Given the description of an element on the screen output the (x, y) to click on. 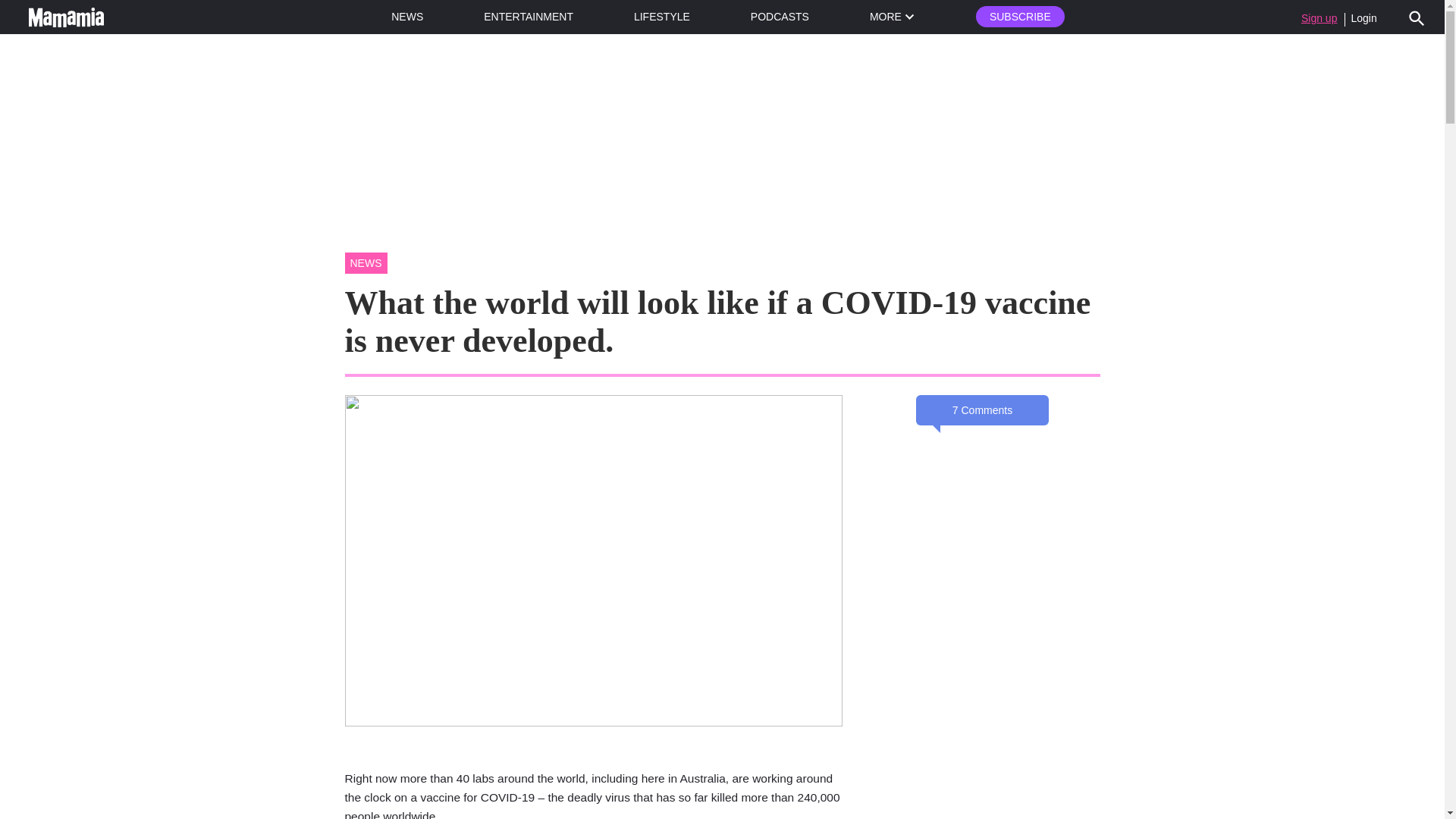
PODCASTS (780, 16)
MORE (892, 17)
Search (1416, 17)
LIFESTYLE (661, 16)
NEWS (407, 16)
ENTERTAINMENT (528, 16)
